Given the description of an element on the screen output the (x, y) to click on. 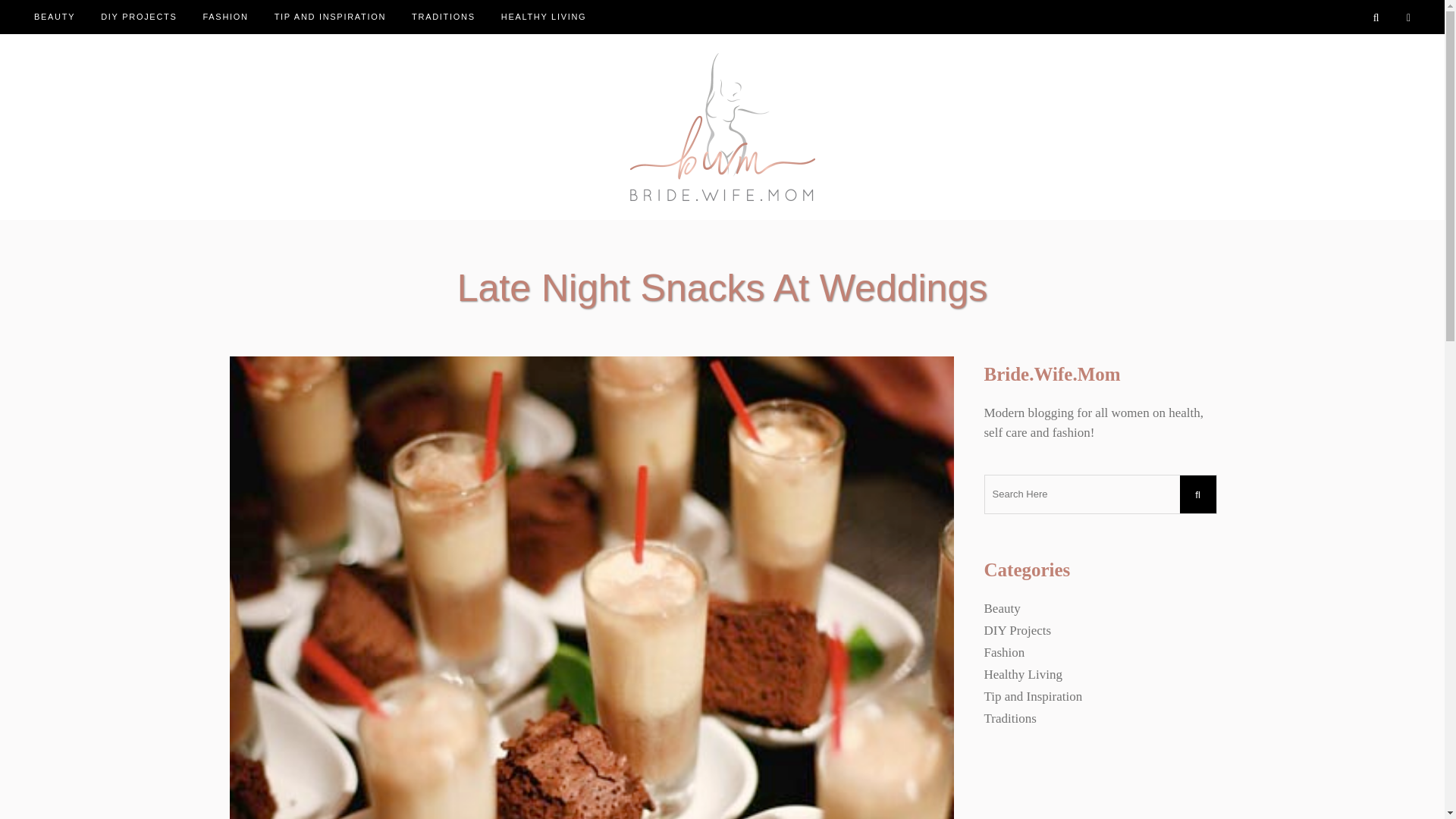
Fashion (1004, 652)
HEALTHY LIVING (543, 17)
BEAUTY (60, 17)
Healthy Living (1023, 674)
DIY PROJECTS (138, 17)
Beauty (1002, 608)
Traditions (1010, 718)
TRADITIONS (442, 17)
TIP AND INSPIRATION (330, 17)
FASHION (224, 17)
DIY Projects (1017, 630)
Tip and Inspiration (1033, 696)
